Given the description of an element on the screen output the (x, y) to click on. 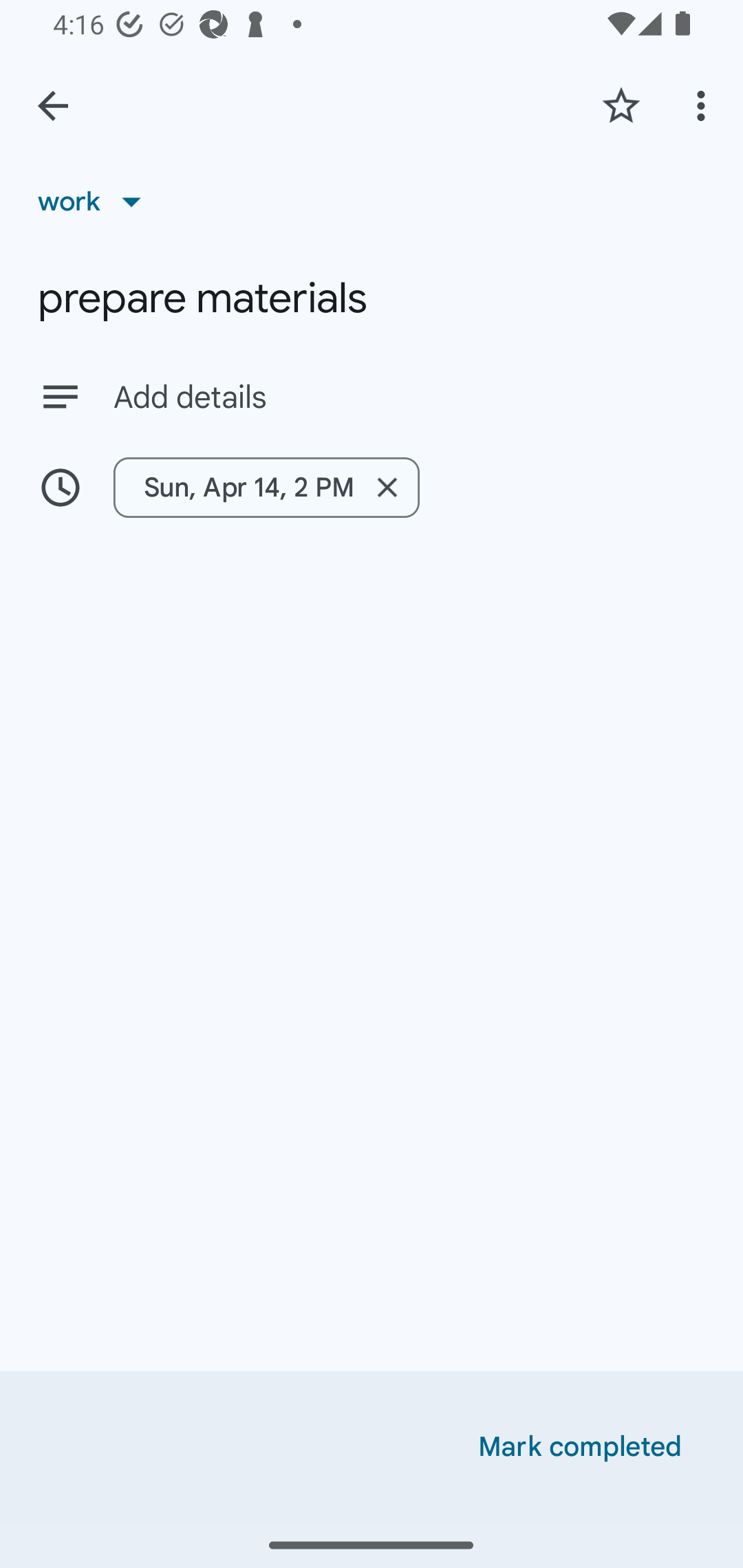
Back (53, 105)
Add star (620, 105)
More options (704, 105)
work List, work selected, 1 of 23 (95, 201)
prepare materials (371, 298)
Add details (371, 396)
Add details (409, 397)
Sun, Apr 14, 2 PM Remove date/time (371, 487)
Sun, Apr 14, 2 PM Remove date/time (266, 487)
Mark completed (580, 1446)
